Given the description of an element on the screen output the (x, y) to click on. 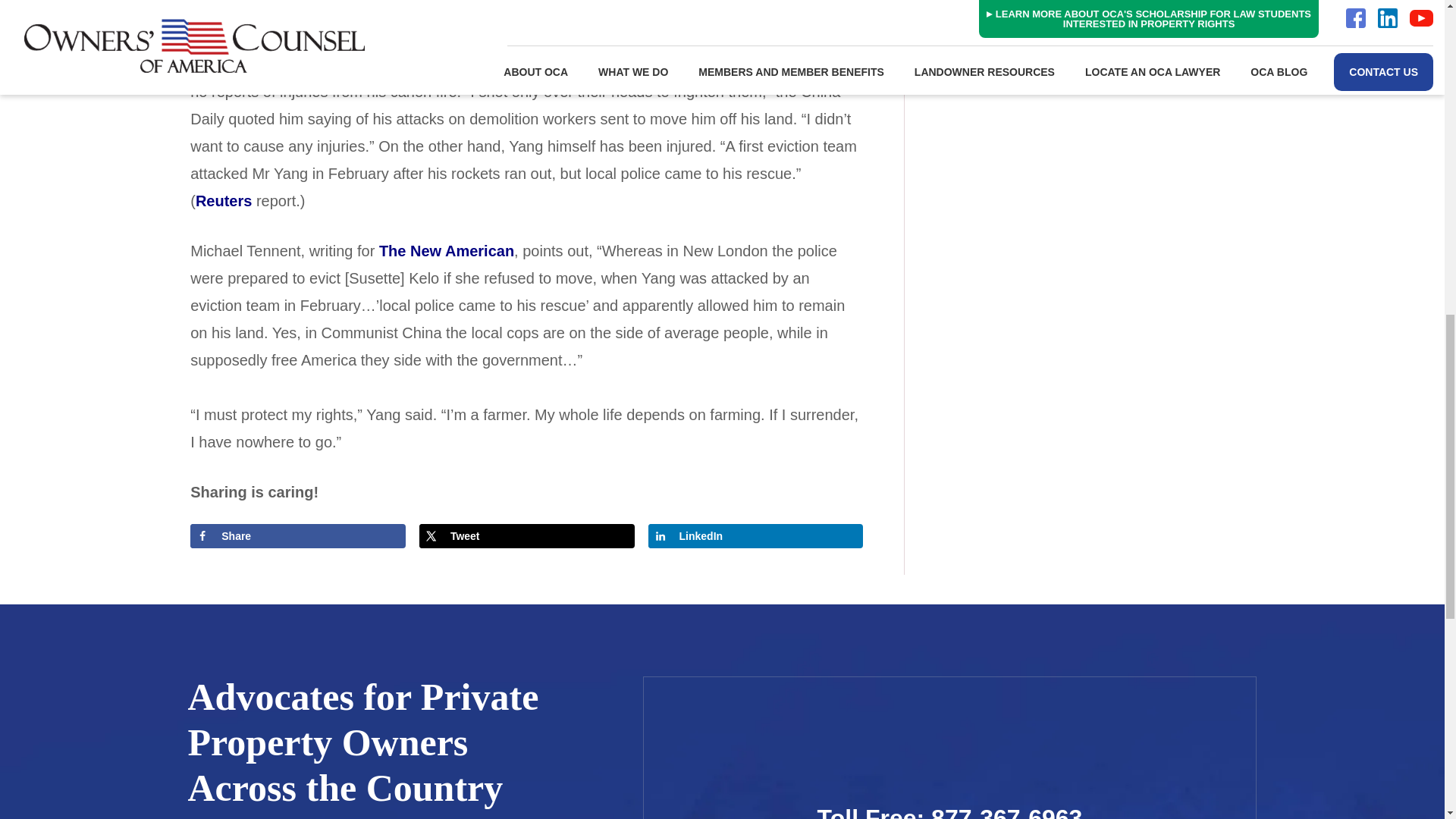
Share on X (526, 535)
Share on Facebook (298, 535)
Share on LinkedIn (755, 535)
